Given the description of an element on the screen output the (x, y) to click on. 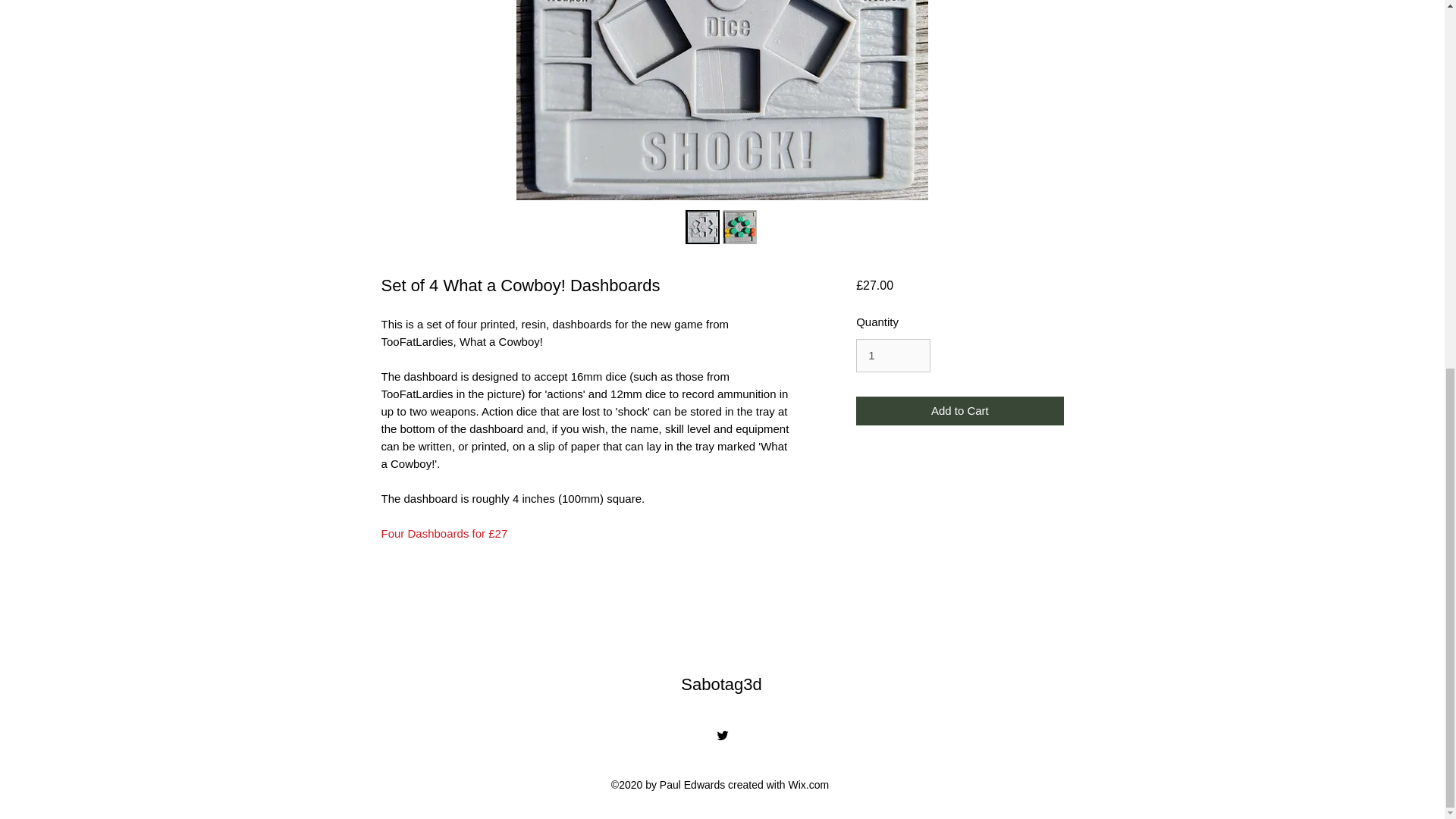
1 (893, 355)
Add to Cart (959, 410)
